Given the description of an element on the screen output the (x, y) to click on. 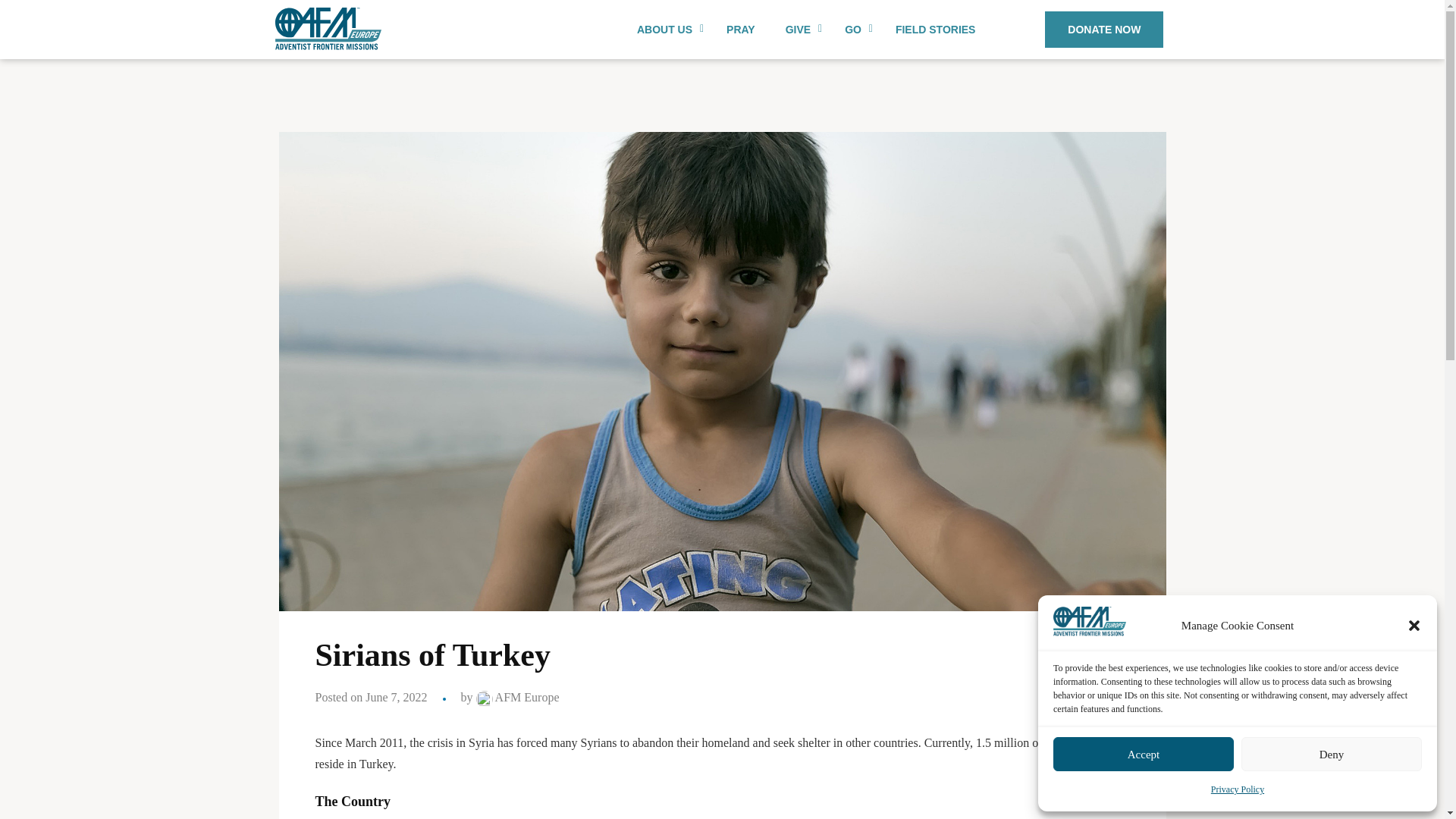
PRAY (740, 29)
GO (854, 29)
ABOUT US (806, 29)
DONATE NOW (666, 29)
Privacy Policy (1104, 29)
Deny (1237, 789)
GIVE (1331, 754)
Accept (799, 29)
FIELD STORIES (1142, 754)
